Given the description of an element on the screen output the (x, y) to click on. 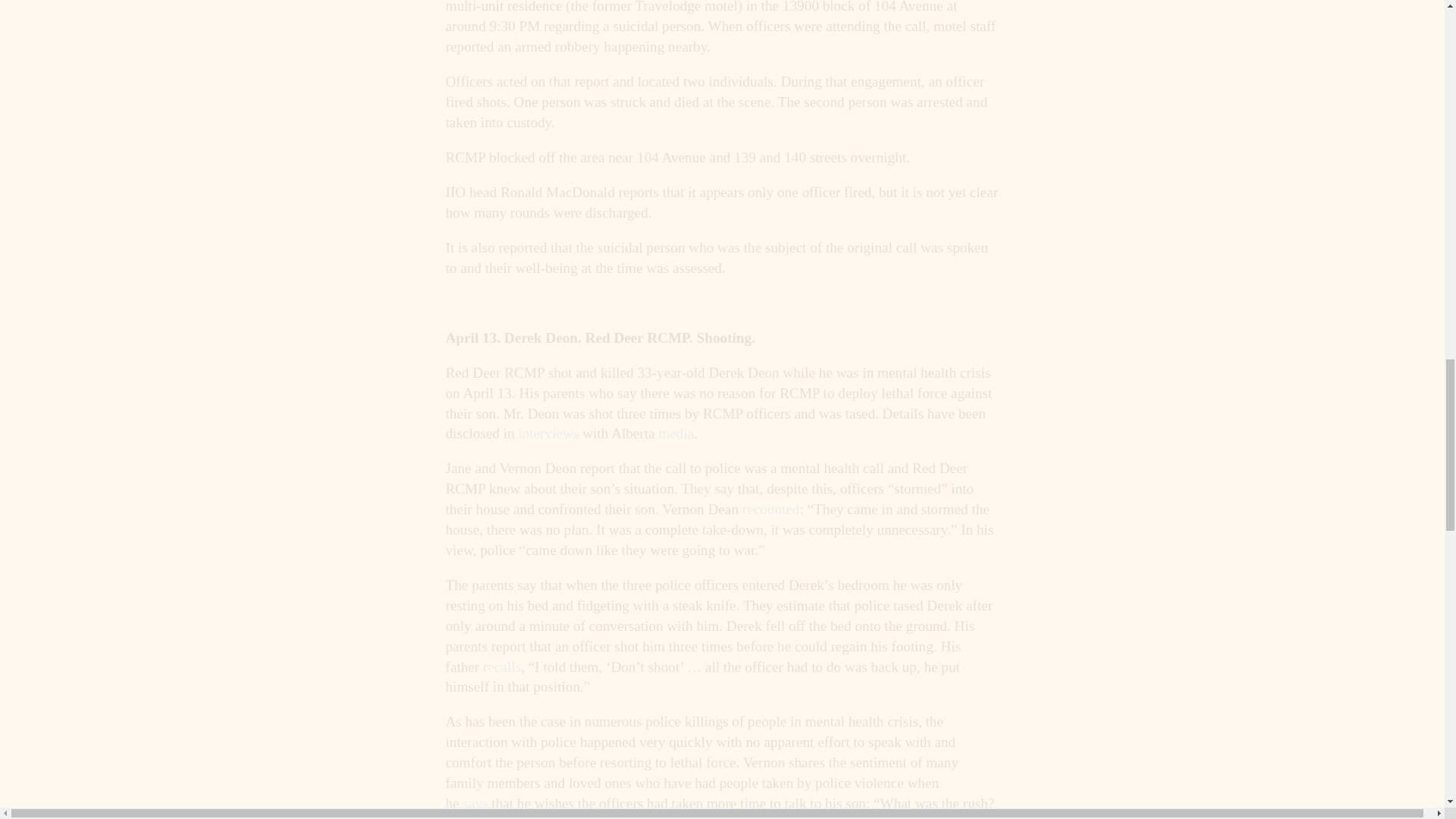
interviews (548, 433)
media (676, 433)
